Given the description of an element on the screen output the (x, y) to click on. 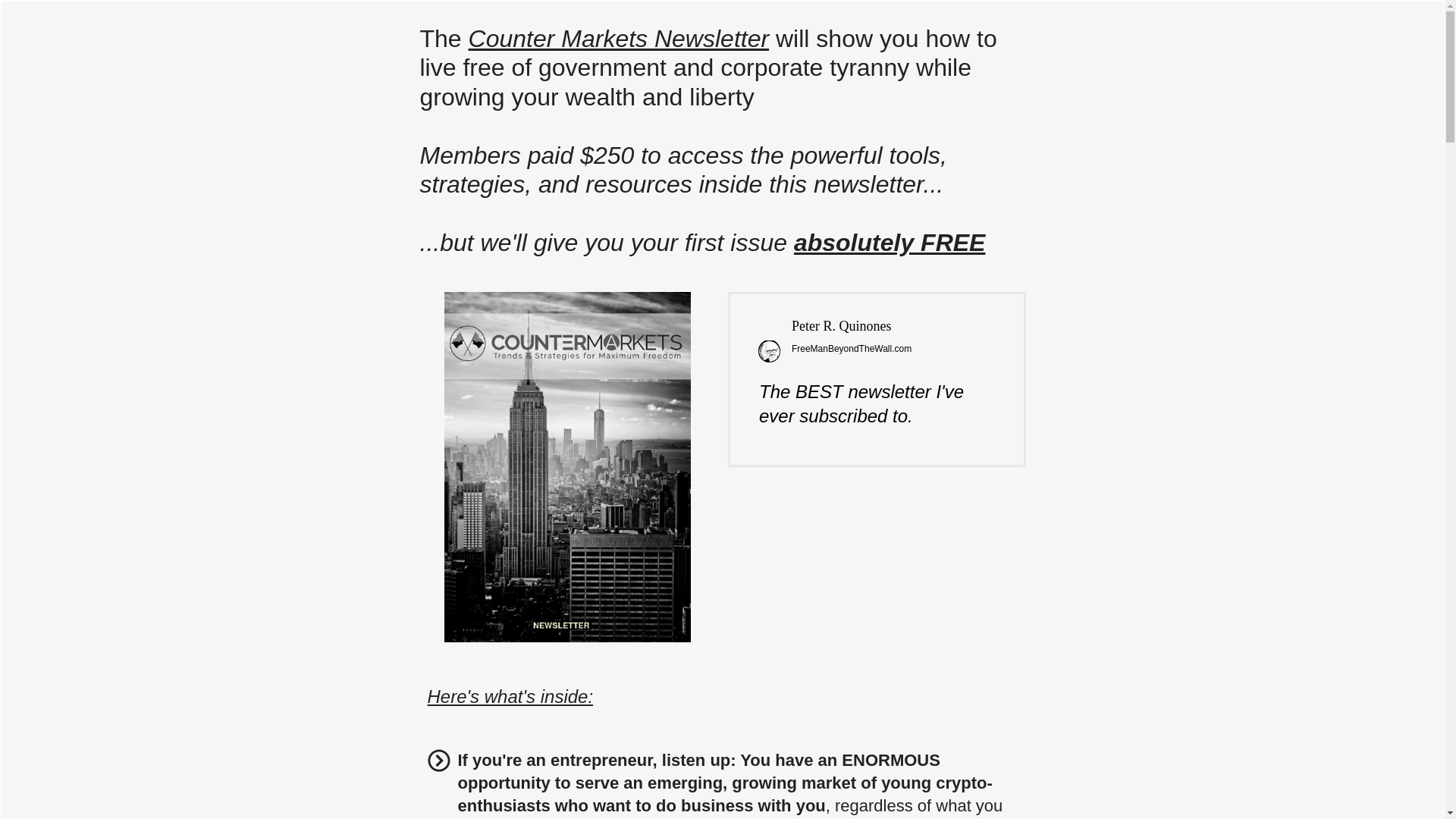
Peter Quinones (769, 351)
countermarketscover (567, 466)
